Given the description of an element on the screen output the (x, y) to click on. 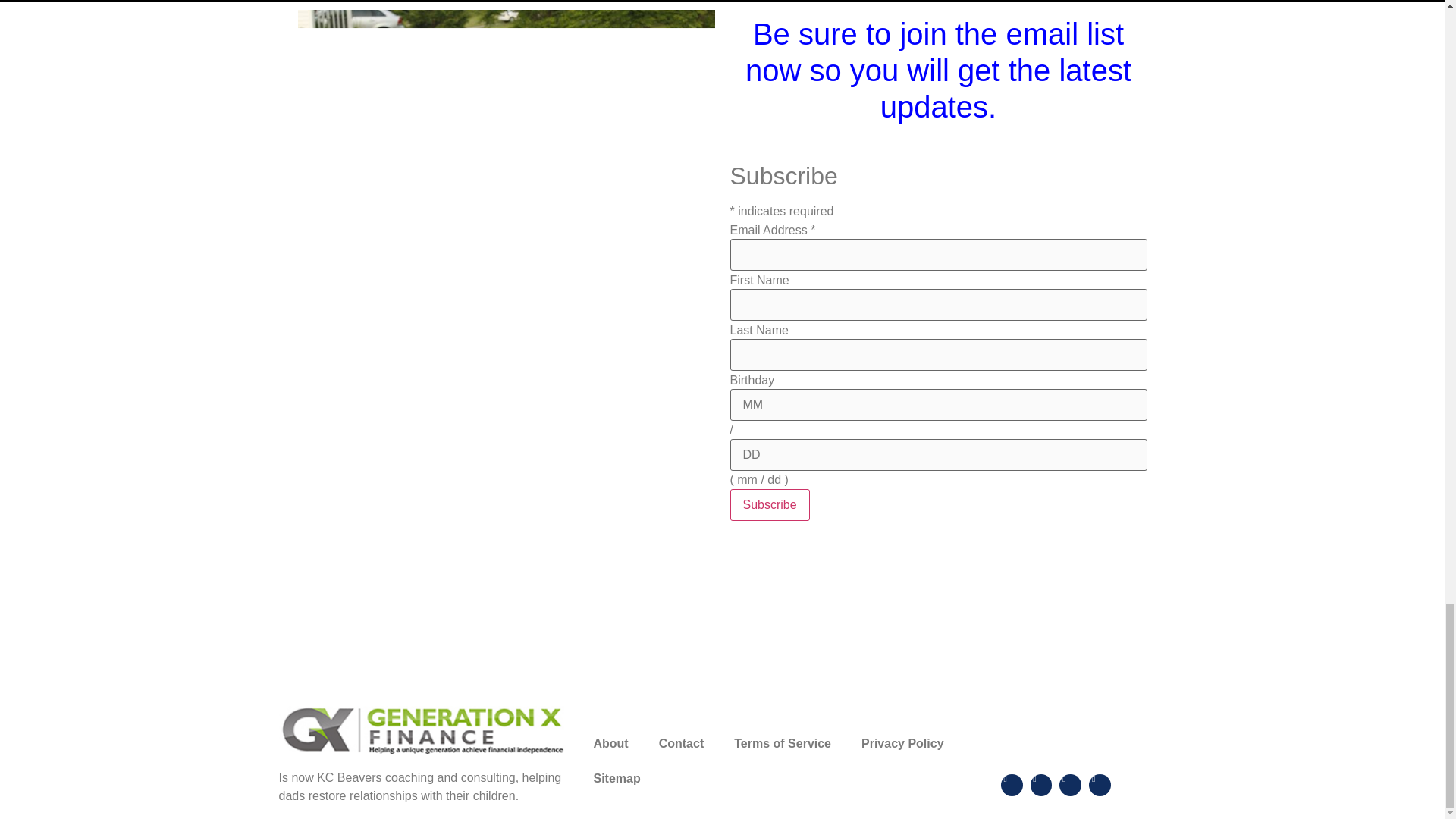
About (610, 743)
Terms of Service (782, 743)
Subscribe (769, 504)
Subscribe (769, 504)
Contact (681, 743)
